Given the description of an element on the screen output the (x, y) to click on. 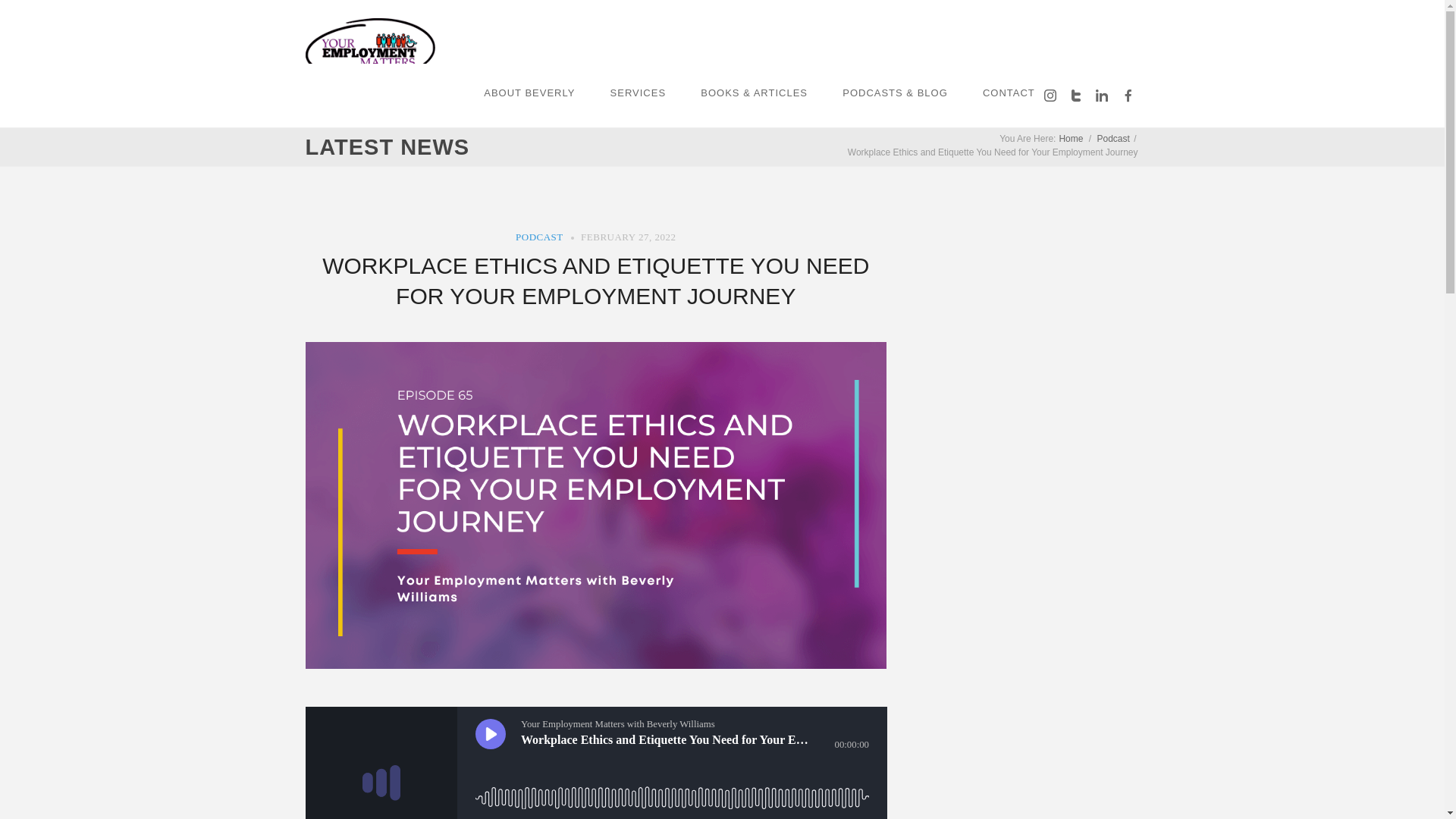
ABOUT BEVERLY (529, 92)
Home (1070, 138)
PODCAST (539, 236)
SERVICES (638, 92)
Podcast (1112, 138)
CONTACT (1008, 92)
